Given the description of an element on the screen output the (x, y) to click on. 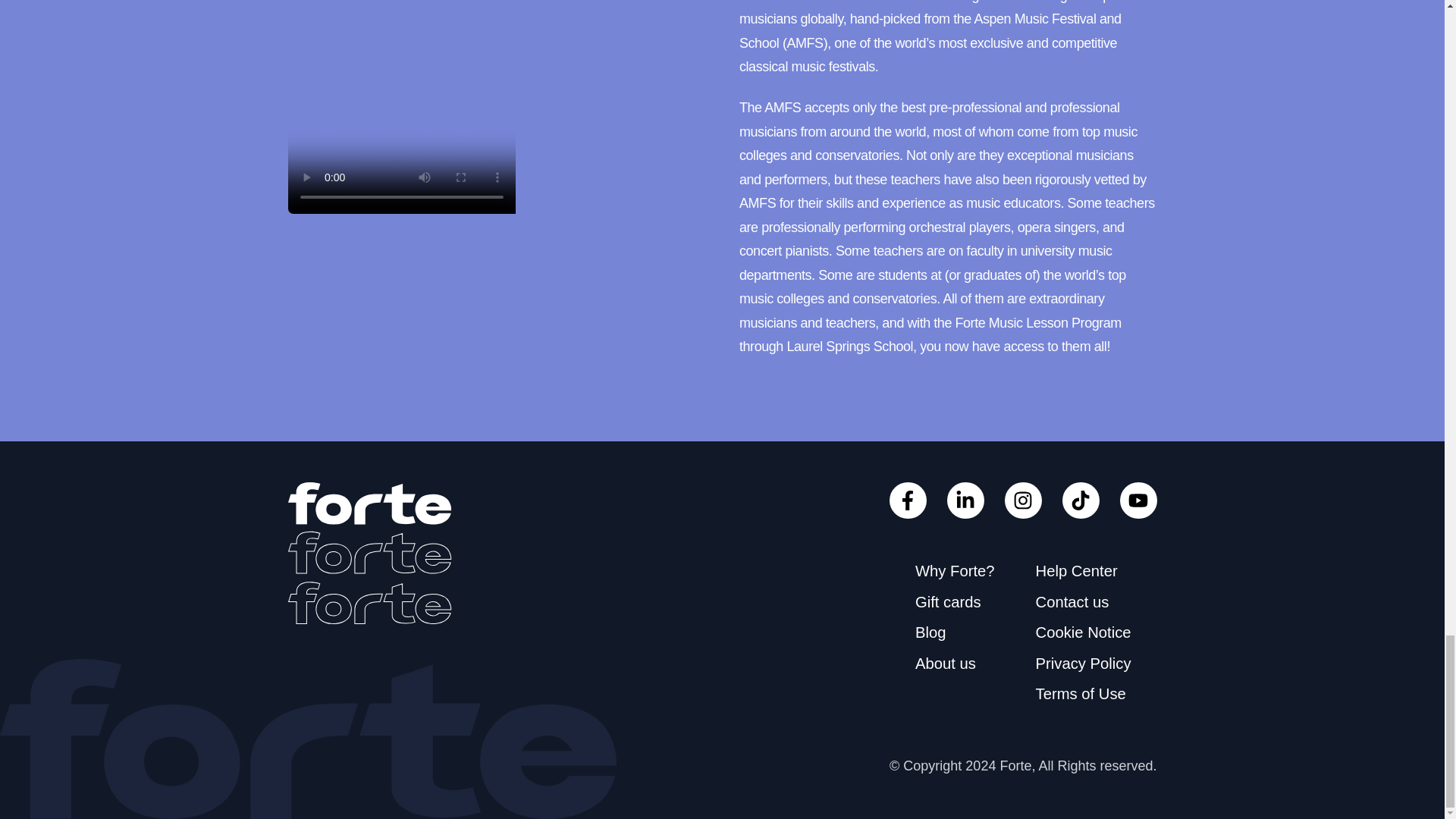
Terms of Use (1080, 693)
Help Center (1076, 570)
Cookie Notice (1083, 632)
LinkedIn (965, 500)
Contact us (1072, 601)
Instagram (1023, 500)
Facebook (907, 500)
socials.tiktok (1138, 500)
Why Forte? (954, 570)
Gift cards (948, 601)
